Given the description of an element on the screen output the (x, y) to click on. 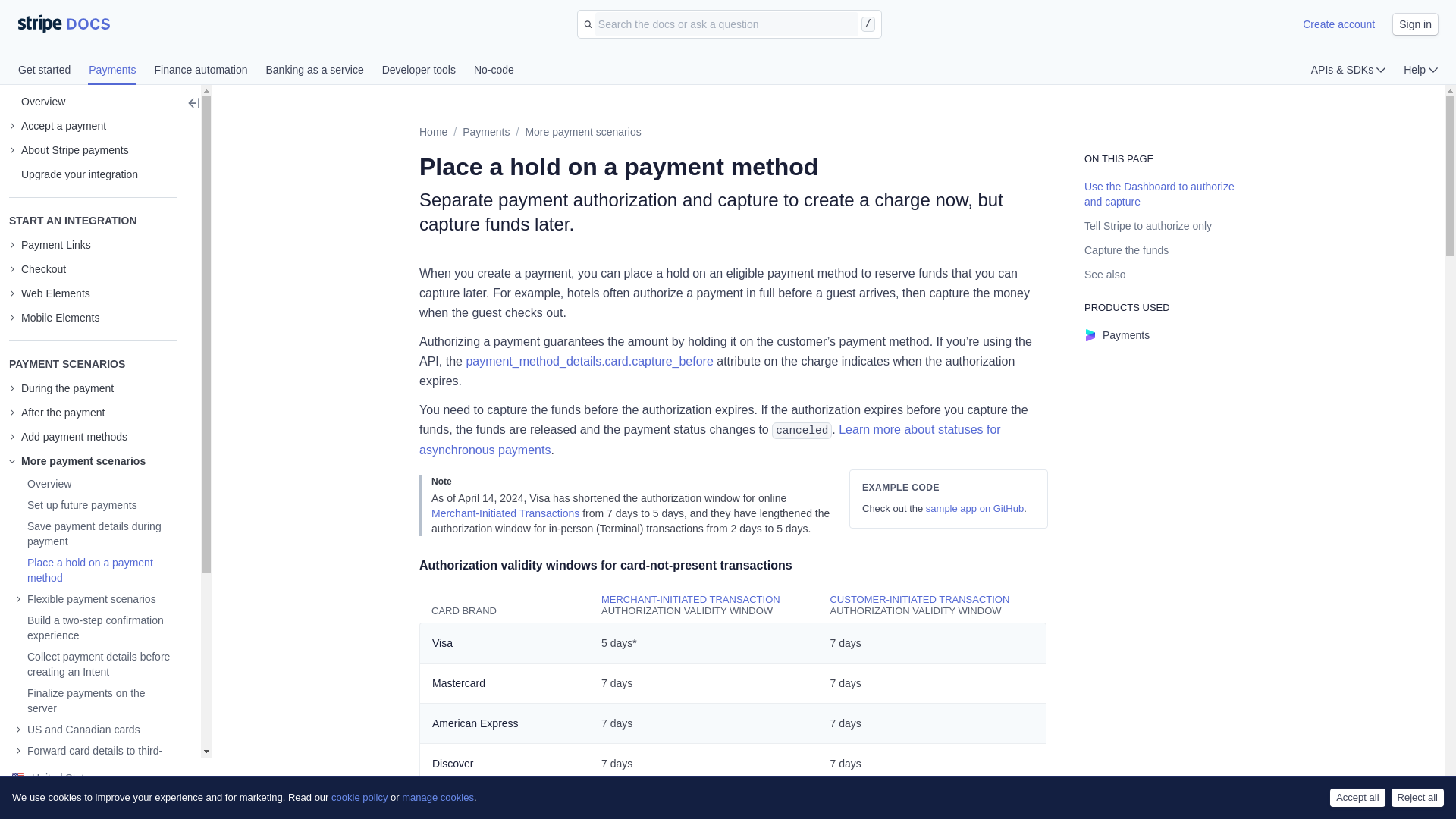
Save payment details during payment (95, 533)
Add payment methods (68, 436)
Save card details without a payment (75, 504)
Banking as a service (322, 71)
Set up future payments (75, 504)
Help (1420, 69)
Developer tools (427, 71)
Render the Payment Element without first creating an Intent (95, 664)
Payments (486, 132)
Mobile Elements (54, 317)
Finance automation (210, 71)
No-code (493, 71)
Authorize a charge now, capture funds later (95, 570)
Payment Links (49, 244)
The Stripe Docs logo (63, 24)
